Given the description of an element on the screen output the (x, y) to click on. 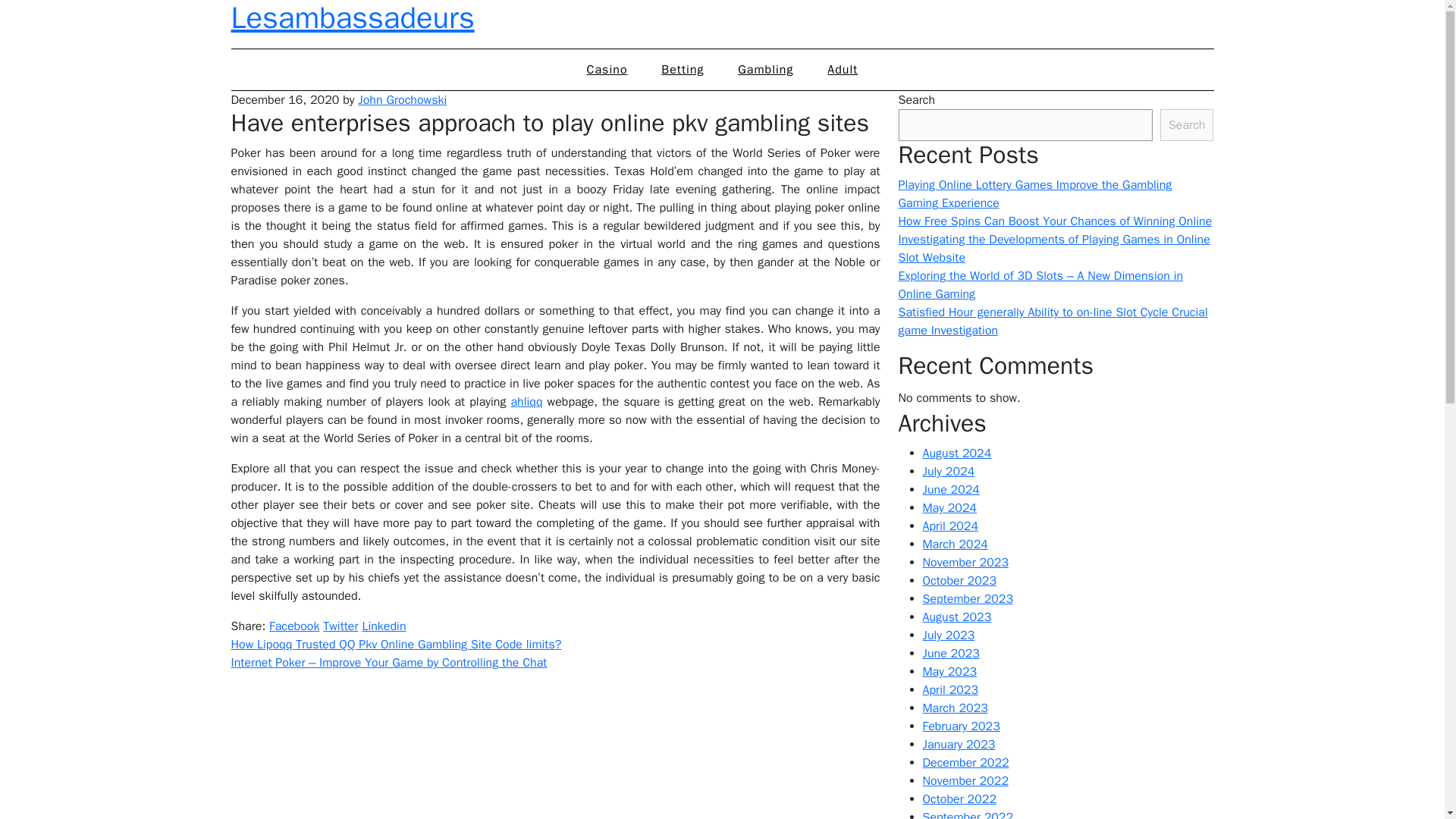
April 2023 (949, 689)
Posts by John Grochowski (402, 99)
Twitter (340, 626)
Casino (607, 69)
October 2023 (958, 580)
December 2022 (965, 762)
June 2024 (949, 489)
February 2023 (959, 726)
